Given the description of an element on the screen output the (x, y) to click on. 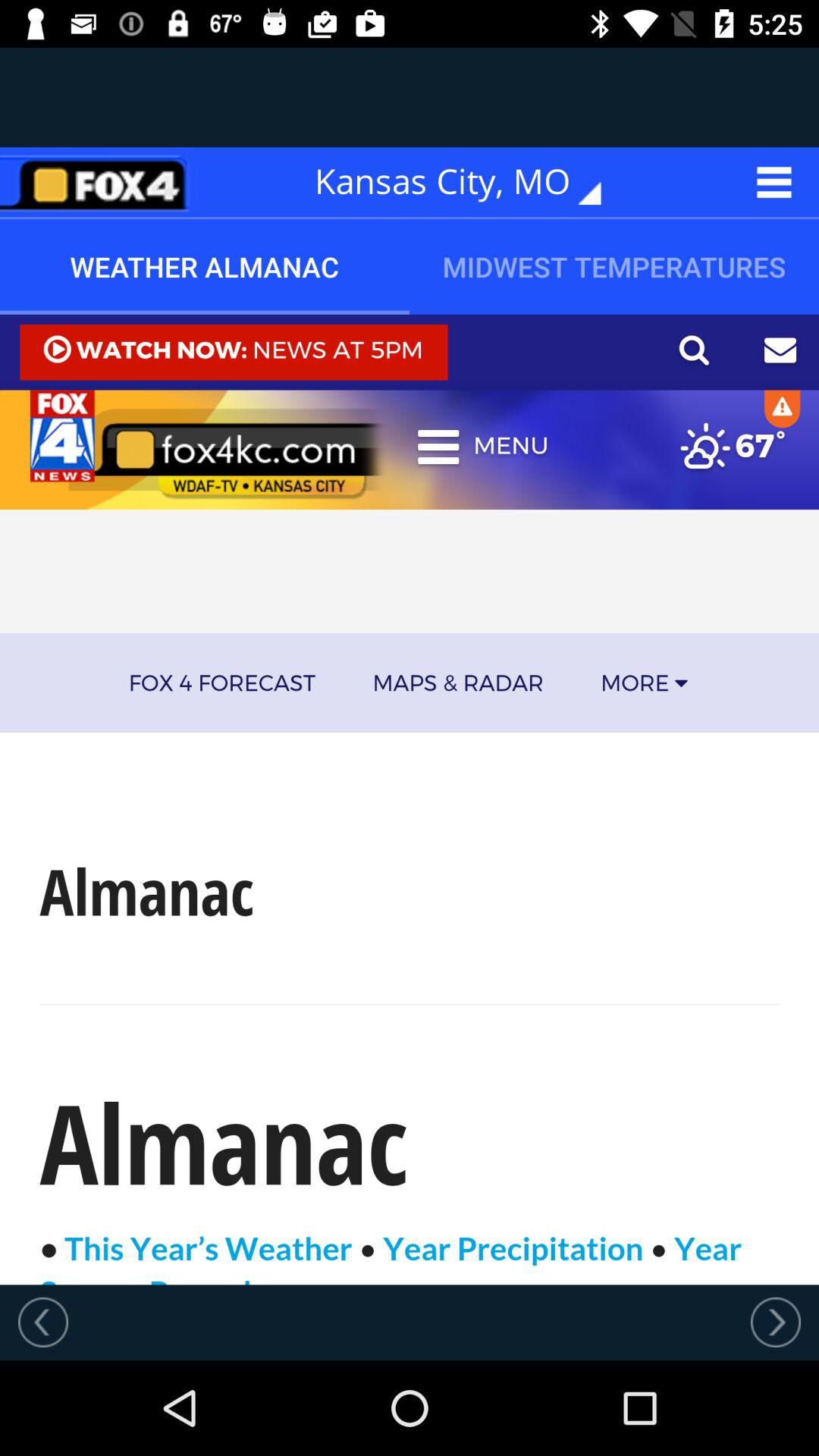
go to next (775, 1322)
